Given the description of an element on the screen output the (x, y) to click on. 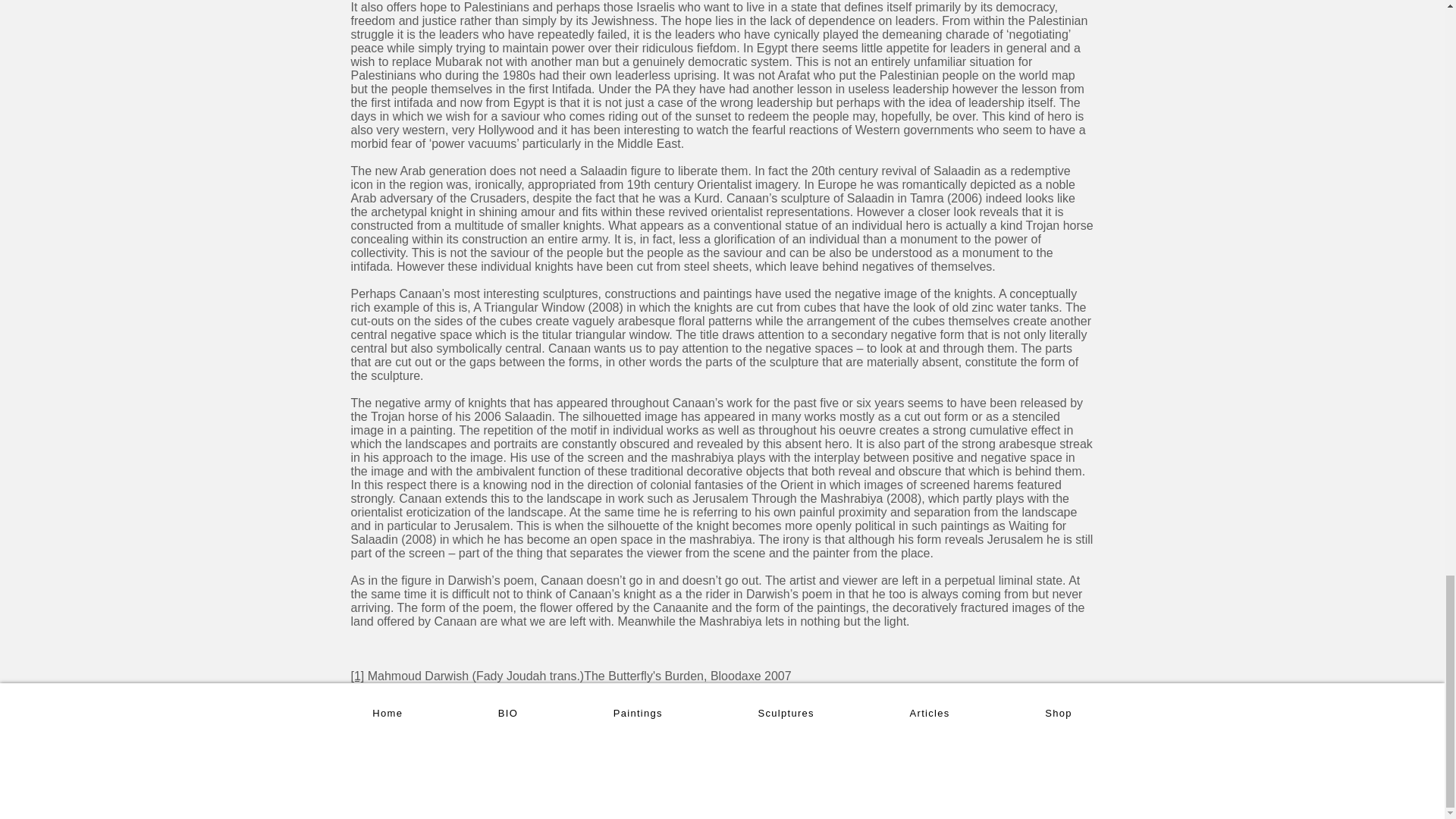
Articles (929, 714)
Shop (1058, 714)
Sculptures (786, 714)
BIO (507, 714)
Paintings (638, 714)
Home (386, 714)
